Given the description of an element on the screen output the (x, y) to click on. 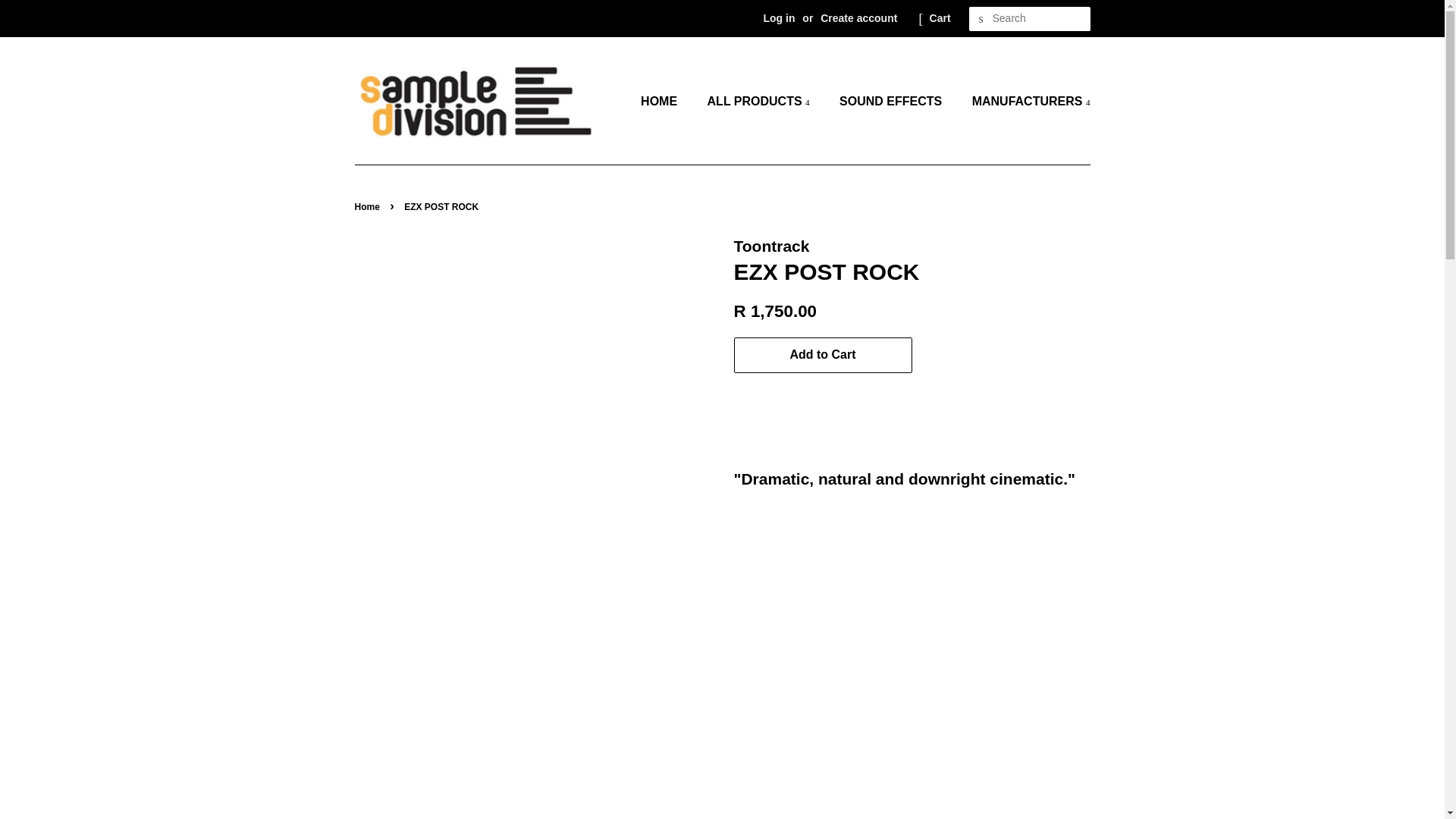
Back to the frontpage (369, 206)
Cart (940, 18)
Create account (858, 18)
EZdrummer 2: Post-Rock EZX (911, 660)
Search (980, 18)
Log in (778, 18)
